Given the description of an element on the screen output the (x, y) to click on. 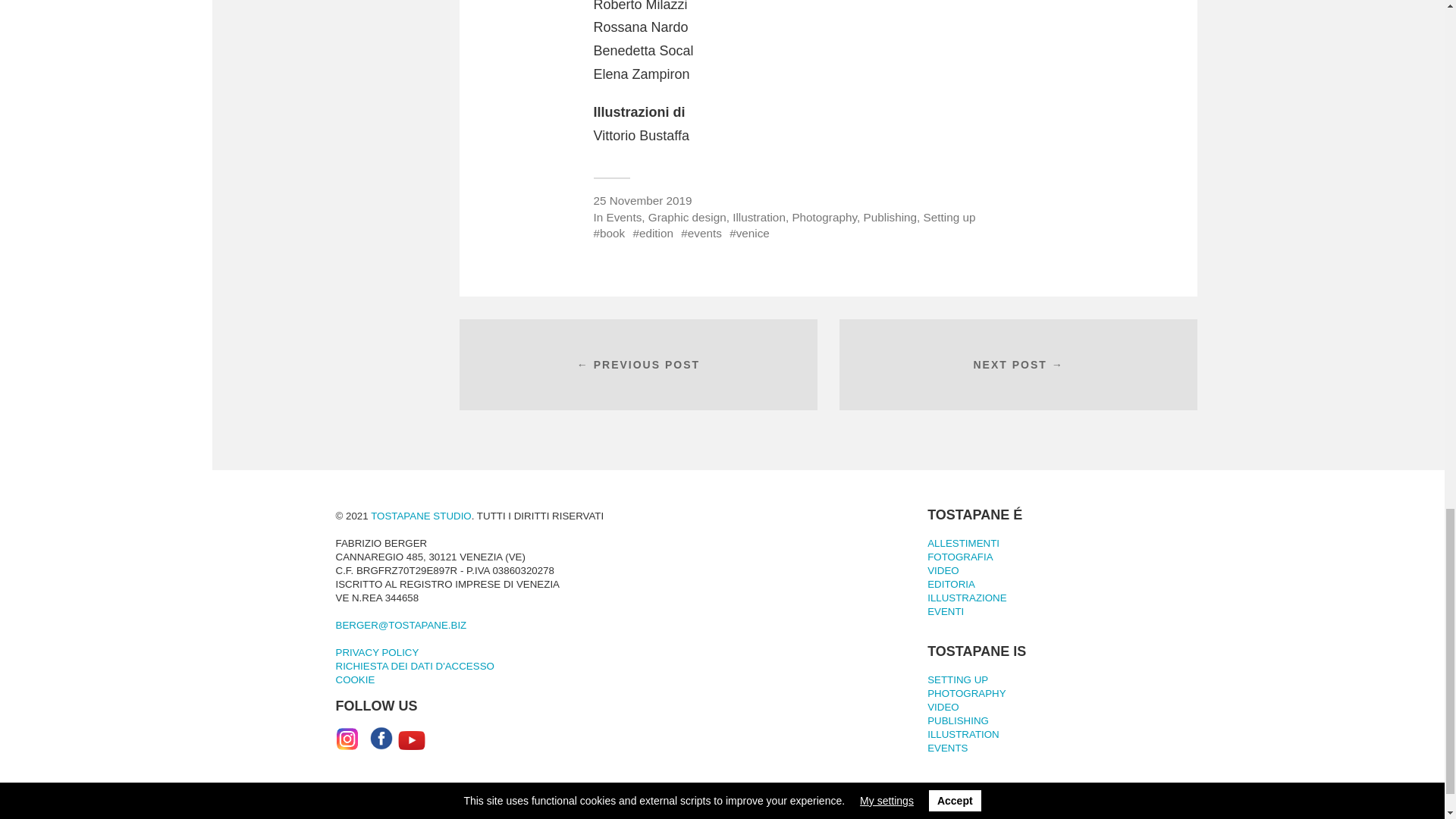
Events (624, 216)
25 November 2019 (641, 200)
